Given the description of an element on the screen output the (x, y) to click on. 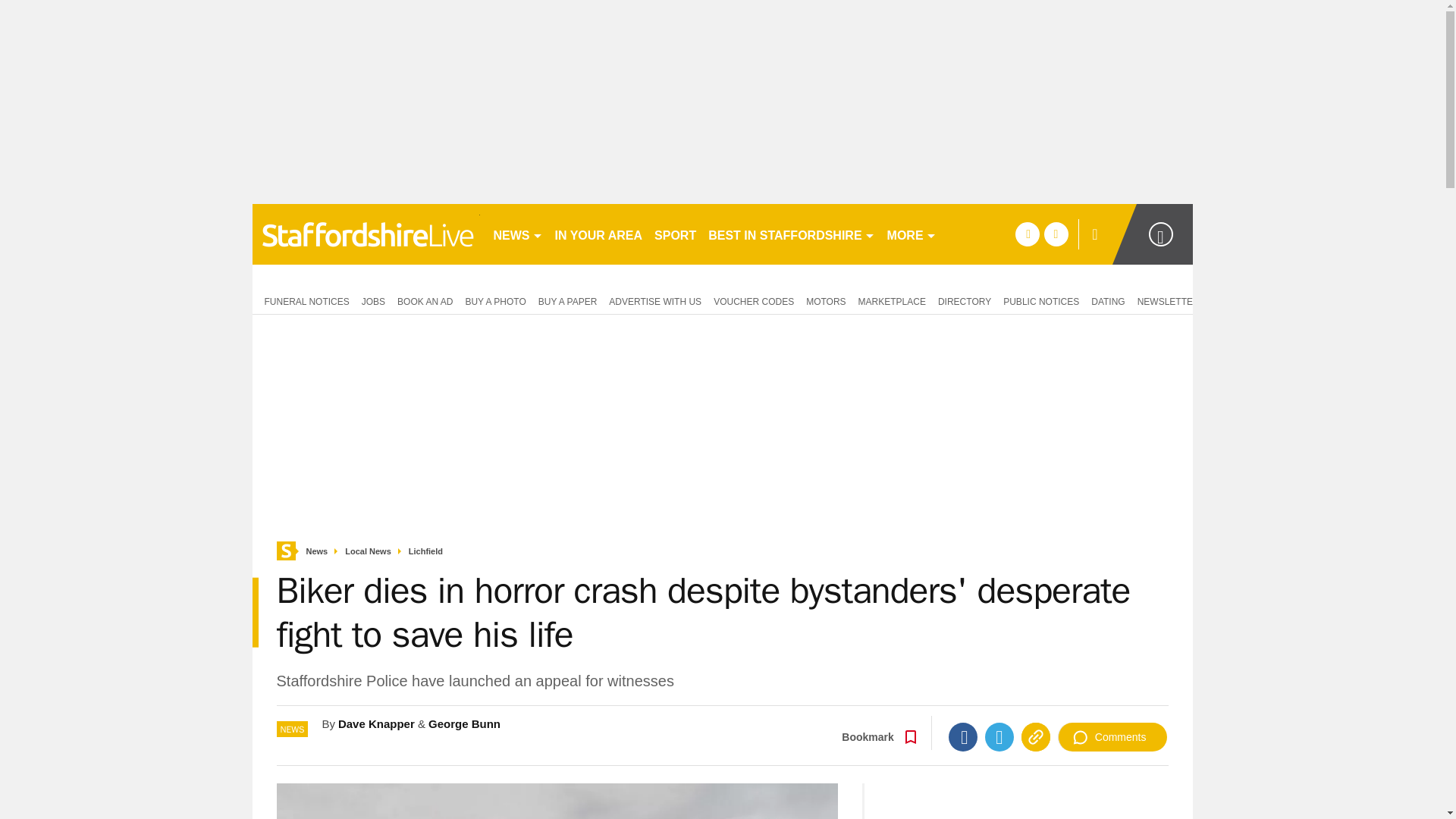
IN YOUR AREA (598, 233)
BUY A PAPER (568, 300)
BEST IN STAFFORDSHIRE (790, 233)
twitter (1055, 233)
MORE (911, 233)
DIRECTORY (964, 300)
Facebook (962, 736)
BOOK AN AD (424, 300)
VOUCHER CODES (753, 300)
JOBS (373, 300)
